Given the description of an element on the screen output the (x, y) to click on. 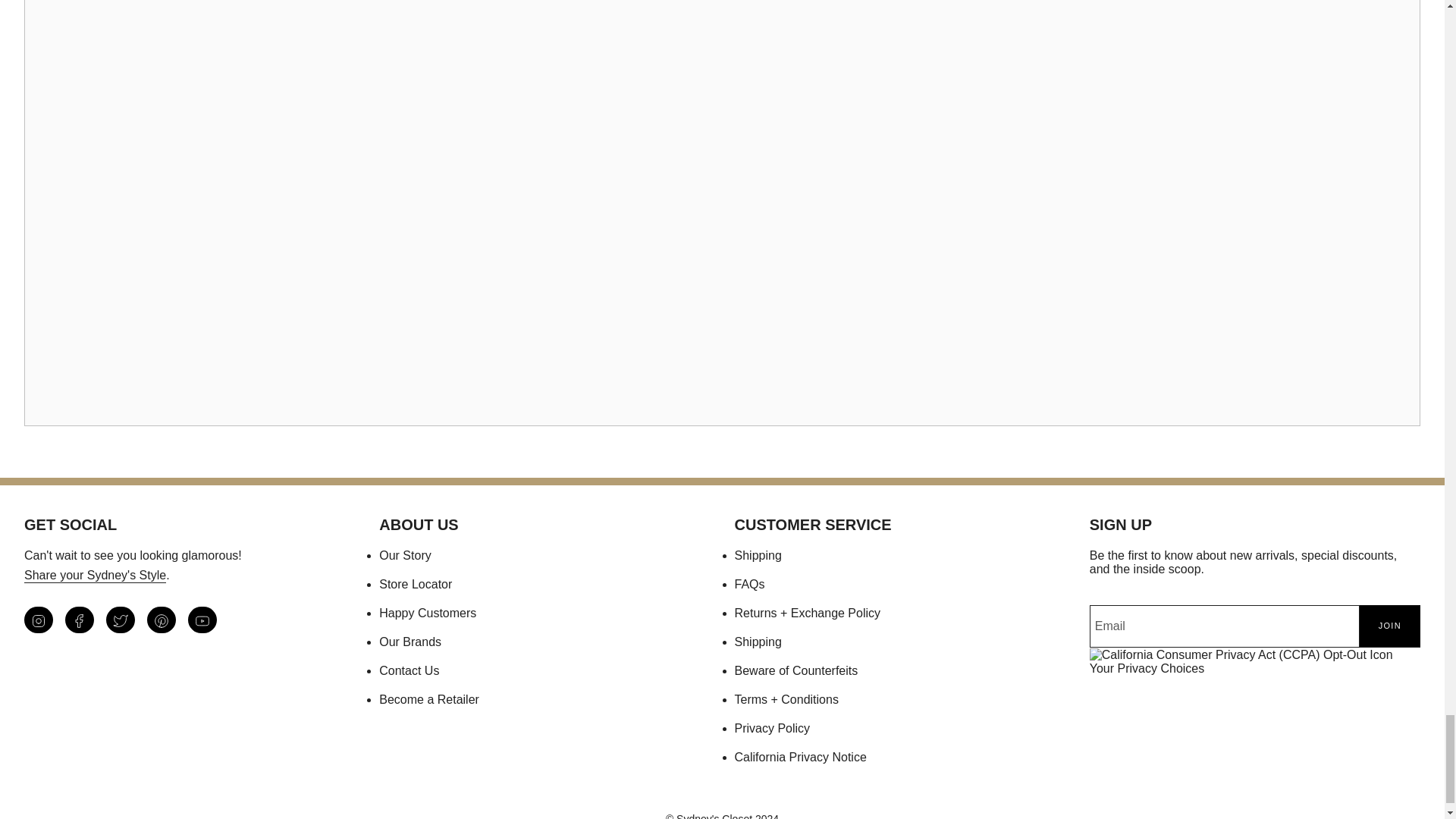
Sydney's Closet on Twitter (120, 619)
Sydney's Closet on YouTube (201, 619)
Sydney's Closet on Facebook (79, 619)
Sydney's Closet on Instagram (38, 619)
Sydney's Closet on Pinterest (161, 619)
